Given the description of an element on the screen output the (x, y) to click on. 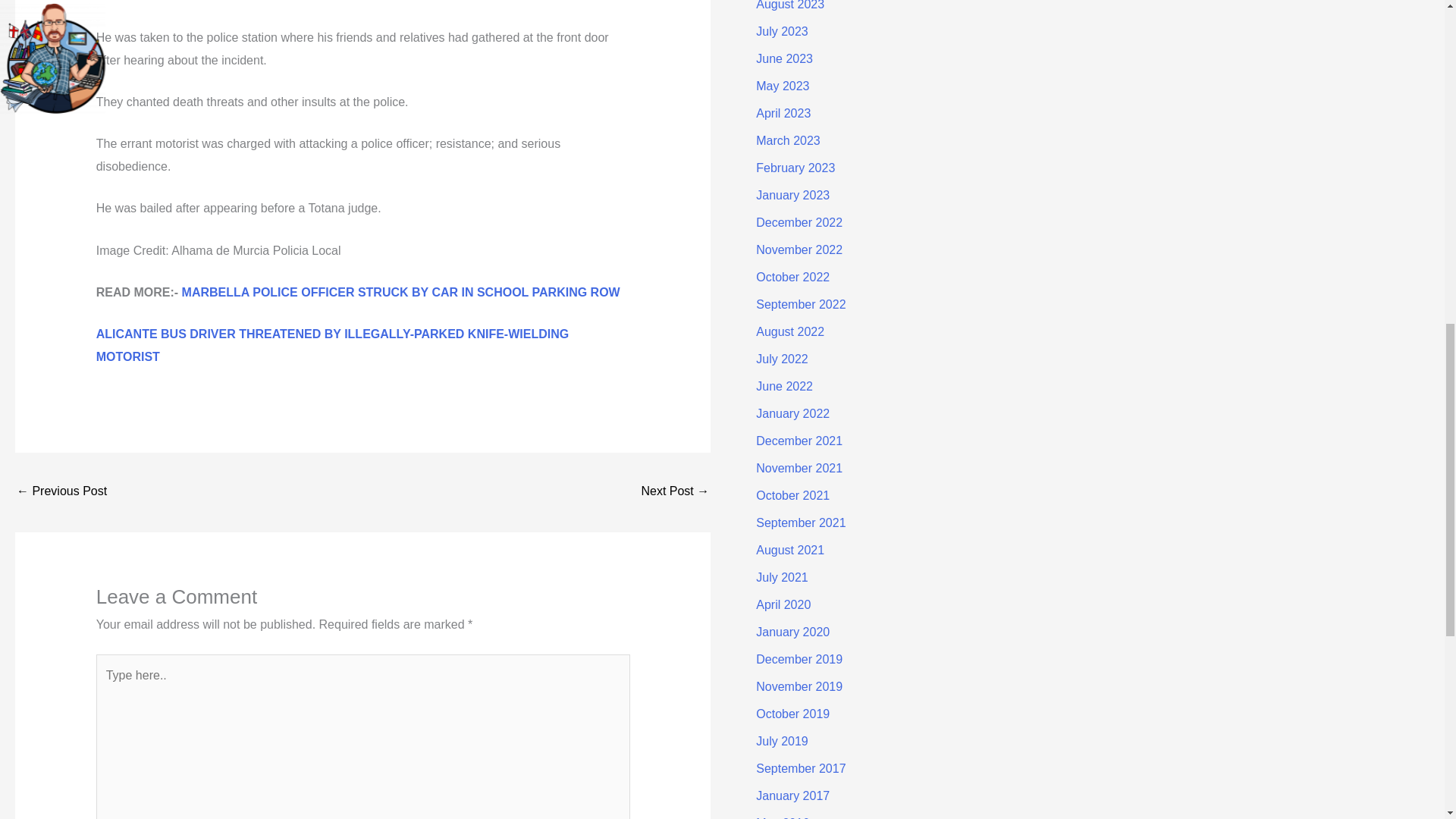
August 2023 (789, 5)
April 2023 (782, 113)
March 2023 (788, 140)
May 2023 (782, 85)
July 2023 (781, 31)
MARBELLA POLICE OFFICER STRUCK BY CAR IN SCHOOL PARKING ROW (401, 291)
June 2023 (783, 58)
